Given the description of an element on the screen output the (x, y) to click on. 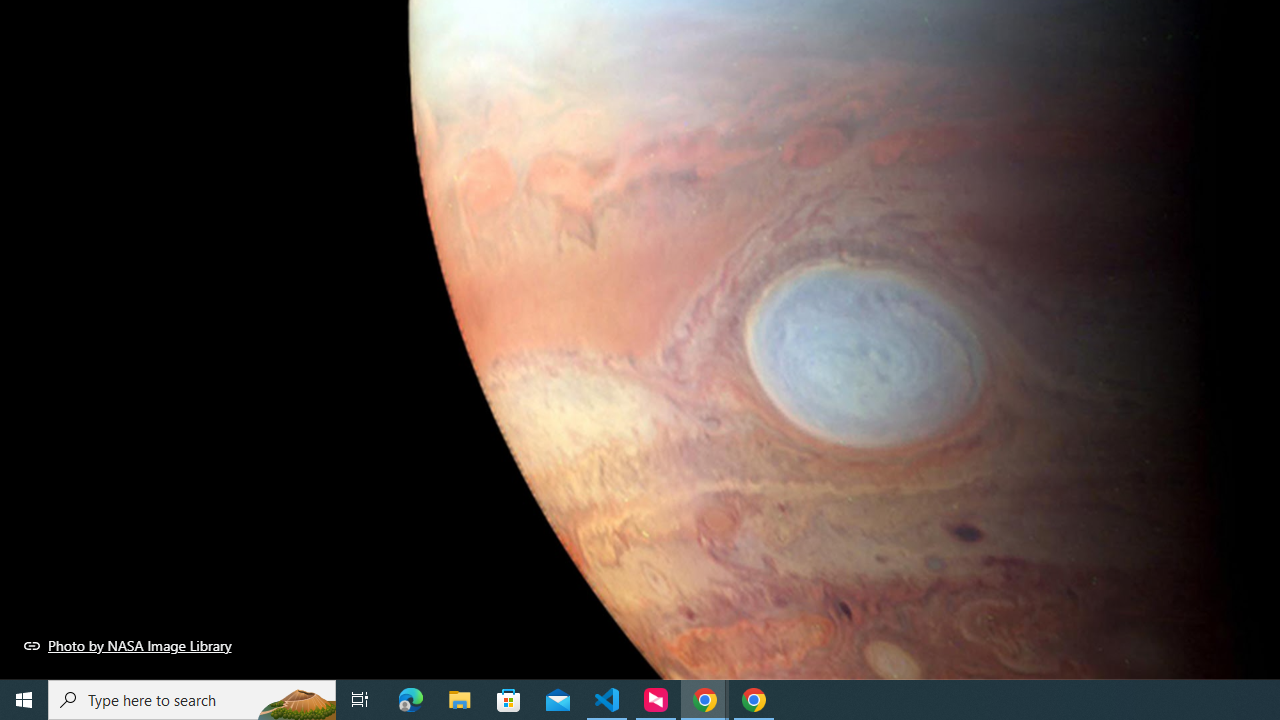
Photo by NASA Image Library (127, 645)
